Given the description of an element on the screen output the (x, y) to click on. 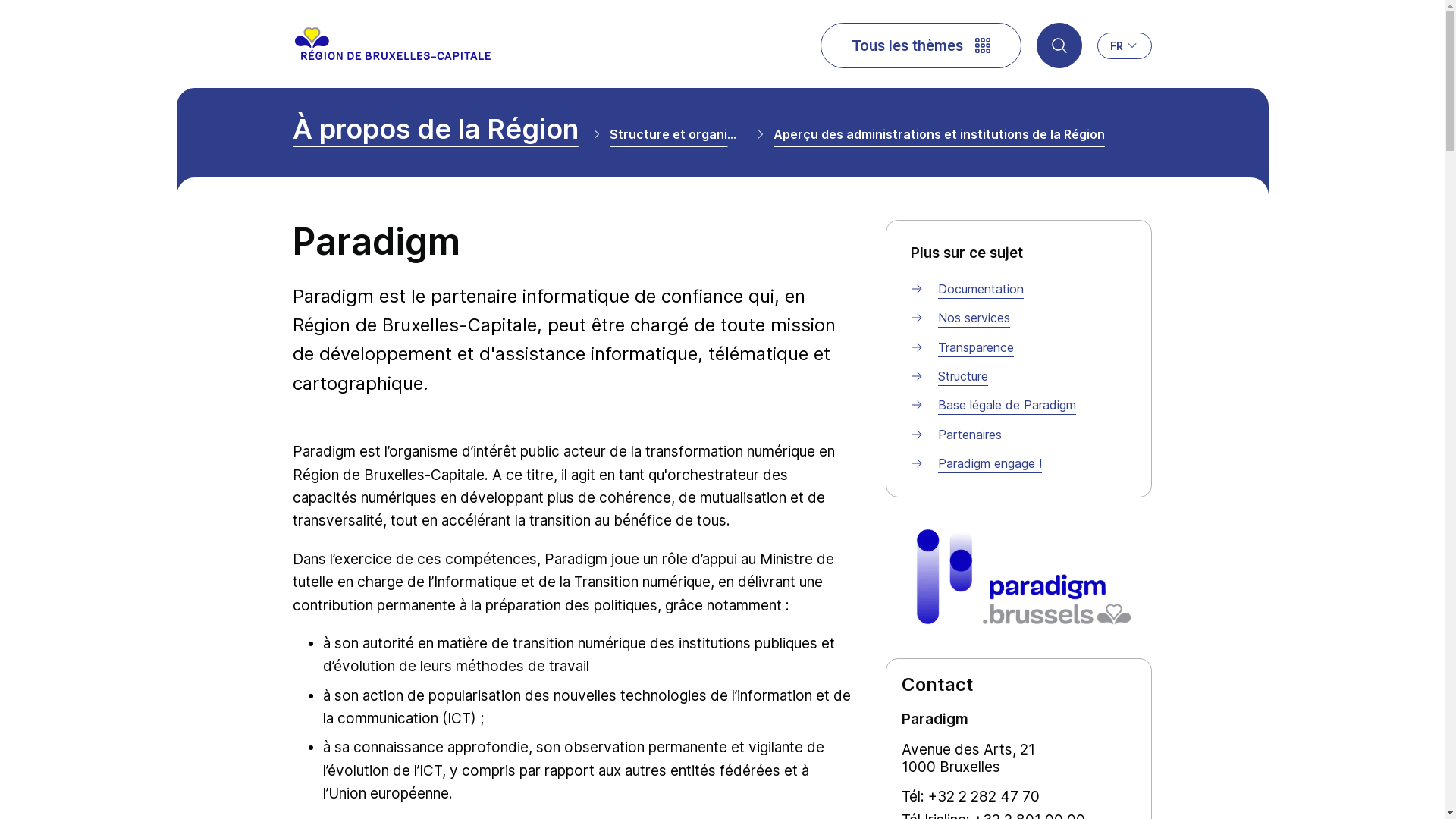
Transparence Element type: text (975, 346)
Structure Element type: text (963, 375)
Partenaires Element type: text (969, 434)
Documentation Element type: text (980, 288)
Structure et organisation Element type: text (675, 137)
Paradigm engage ! Element type: text (989, 463)
Nos services Element type: text (974, 317)
FR Element type: text (1124, 44)
